Given the description of an element on the screen output the (x, y) to click on. 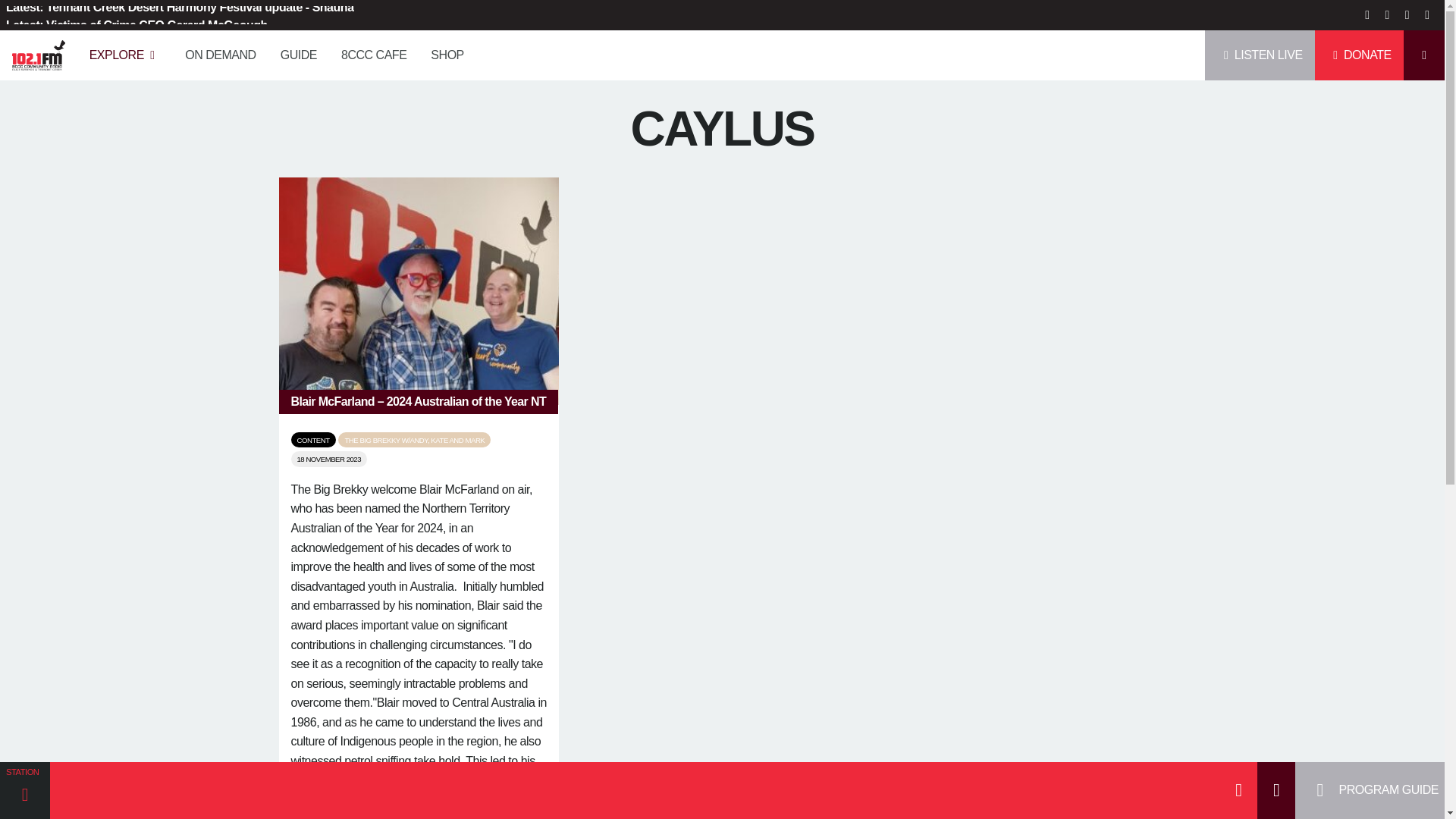
SHOP (477, 48)
ON DEMAND (250, 48)
EXPLORE (155, 48)
8CCC CAFE (403, 48)
LISTEN LIVE (1259, 48)
GUIDE (328, 48)
DONATE (1358, 48)
